Given the description of an element on the screen output the (x, y) to click on. 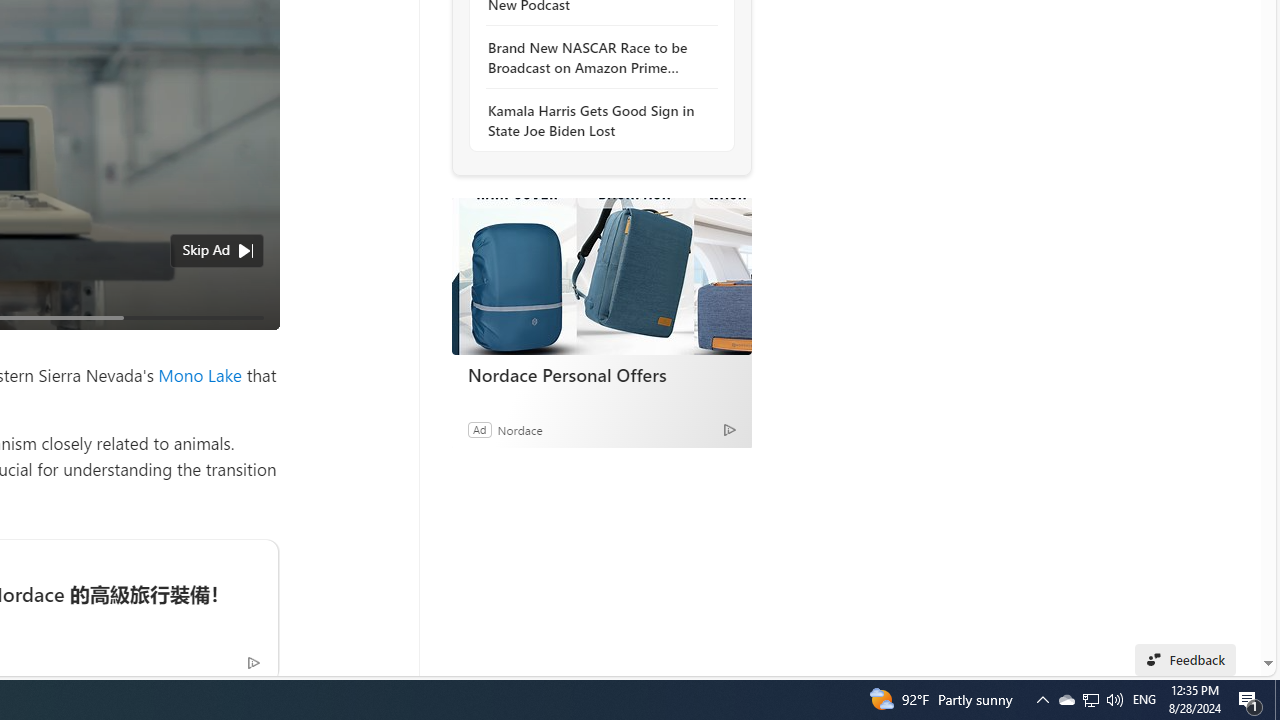
Unmute (253, 341)
Kamala Harris Gets Good Sign in State Joe Biden Lost (596, 120)
Nordace Personal Offers (601, 276)
Brand New NASCAR Race to be Broadcast on Amazon Prime Video (596, 57)
Nordace Personal Offers (601, 374)
Skip Ad (205, 249)
Mono Lake (200, 373)
